Given the description of an element on the screen output the (x, y) to click on. 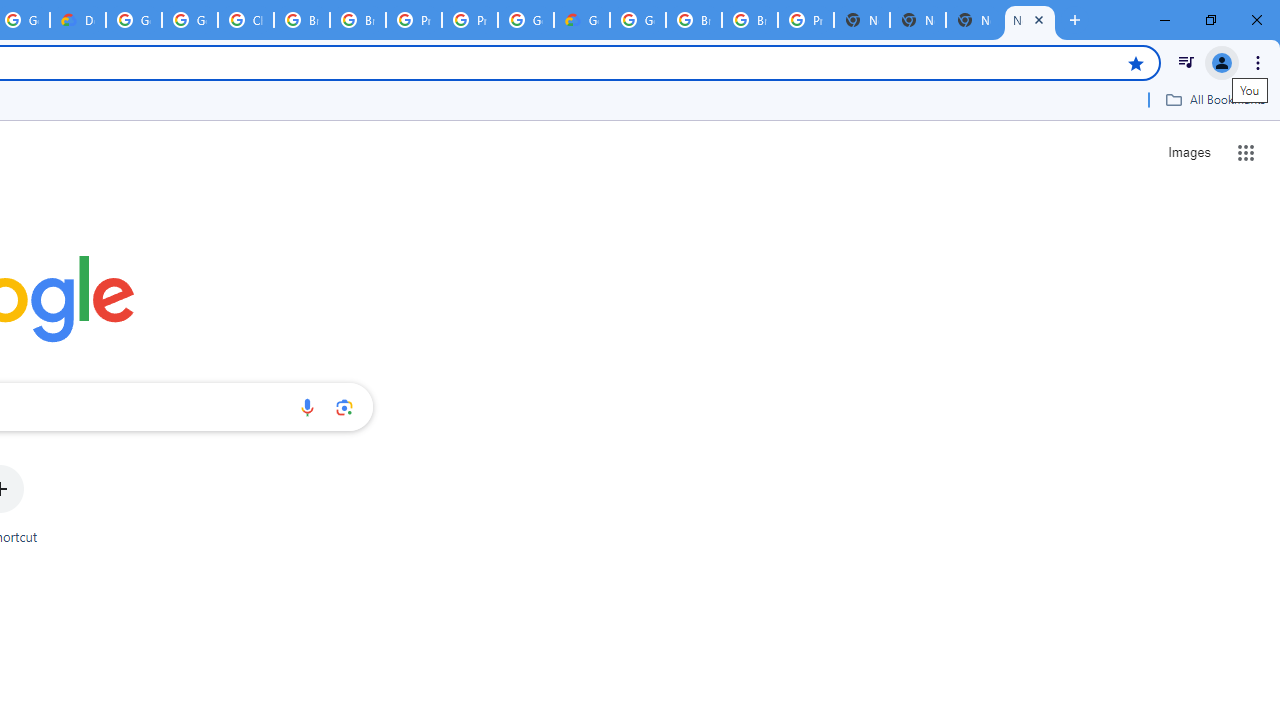
Browse Chrome as a guest - Computer - Google Chrome Help (749, 20)
Search by voice (307, 407)
Browse Chrome as a guest - Computer - Google Chrome Help (358, 20)
Browse Chrome as a guest - Computer - Google Chrome Help (301, 20)
Google Cloud Estimate Summary (582, 20)
New Tab (973, 20)
All Bookmarks (1215, 99)
Search by image (344, 407)
